Given the description of an element on the screen output the (x, y) to click on. 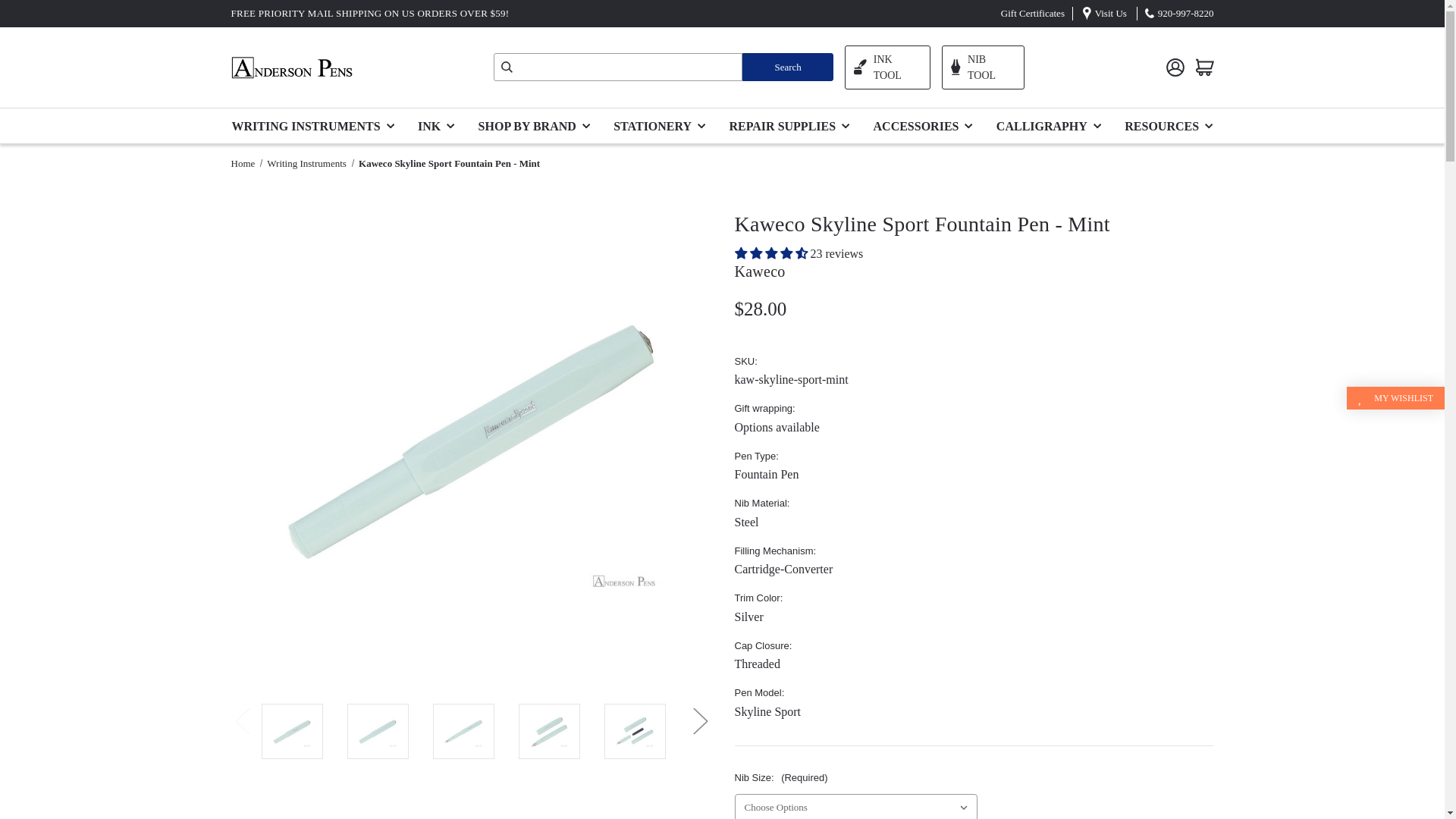
920-997-8220 (1185, 13)
SHOP BY BRAND (537, 124)
INK (439, 124)
Gift Certificates (1032, 13)
INK TOOL (887, 67)
NIB TOOL (983, 67)
Anderson Pens, Inc. (291, 67)
WRITING INSTRUMENTS (318, 124)
Search (787, 67)
Search (787, 67)
Visit Us (1110, 13)
